Given the description of an element on the screen output the (x, y) to click on. 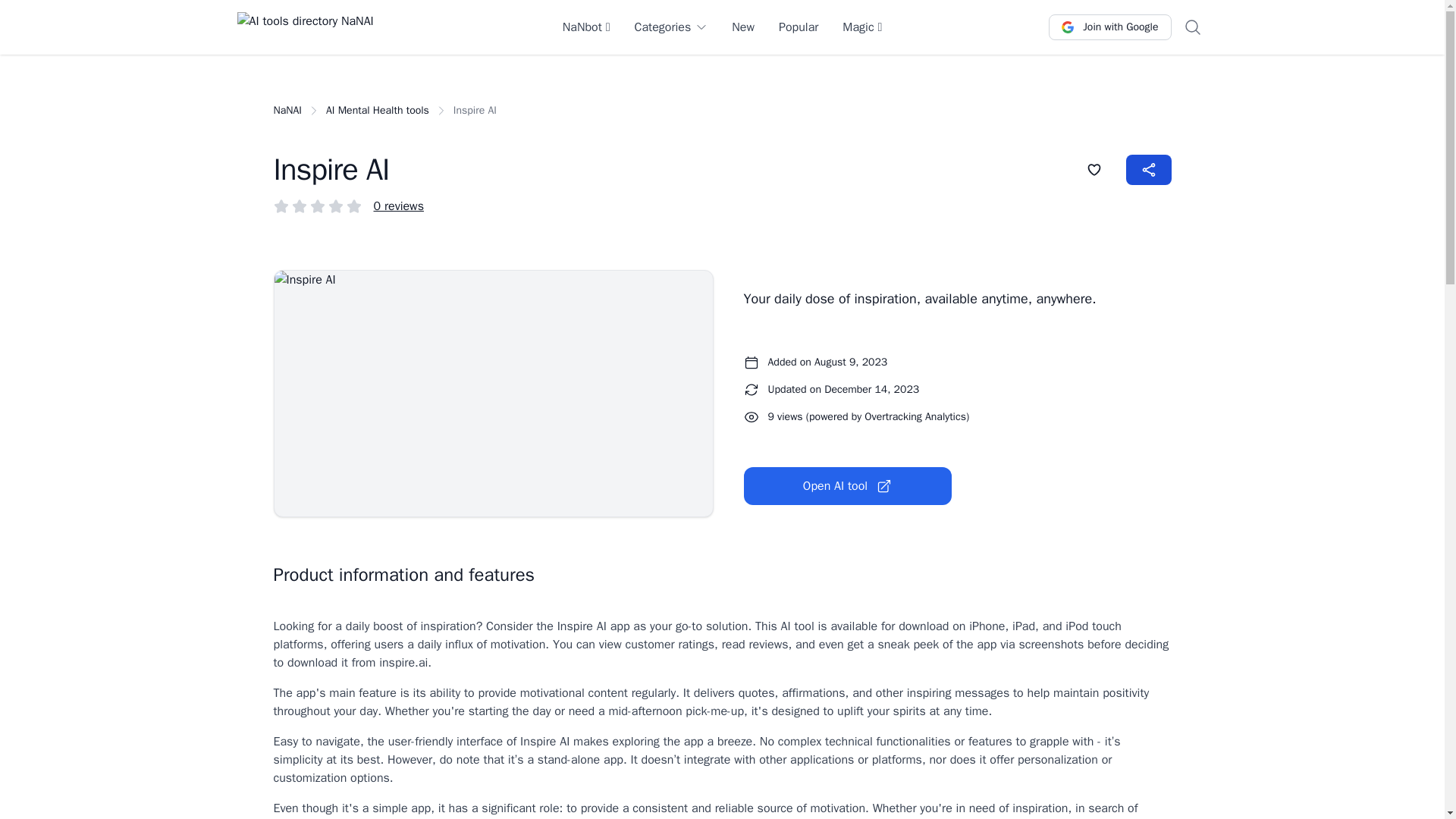
Categories (670, 27)
Popular (798, 27)
Join with Google (1109, 27)
NaNAI (287, 110)
Open search (1191, 27)
Open AI tool (846, 485)
New (743, 27)
AI Mental Health tools (377, 110)
0 reviews (397, 206)
NaNAI (303, 27)
Overtracking Analytics (915, 416)
